Given the description of an element on the screen output the (x, y) to click on. 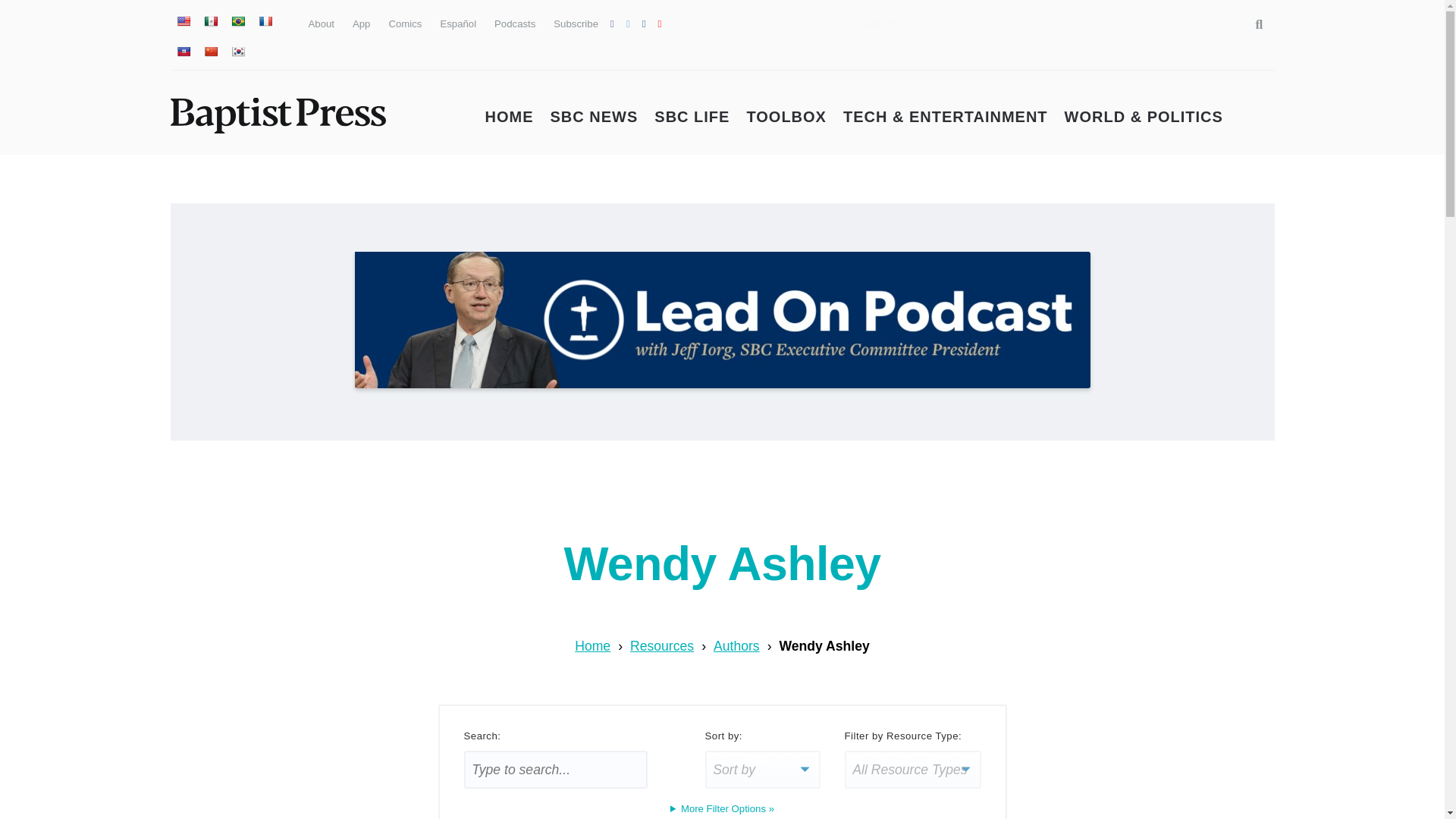
TOOLBOX (786, 116)
Home (592, 645)
French (263, 21)
About (320, 23)
App (360, 23)
English (182, 21)
Comics (405, 23)
Haitian (182, 51)
Authors (736, 645)
HOME (509, 116)
Search (1251, 24)
Resources (662, 645)
SBC LIFE (691, 116)
Podcasts (515, 23)
SBC NEWS (594, 116)
